Given the description of an element on the screen output the (x, y) to click on. 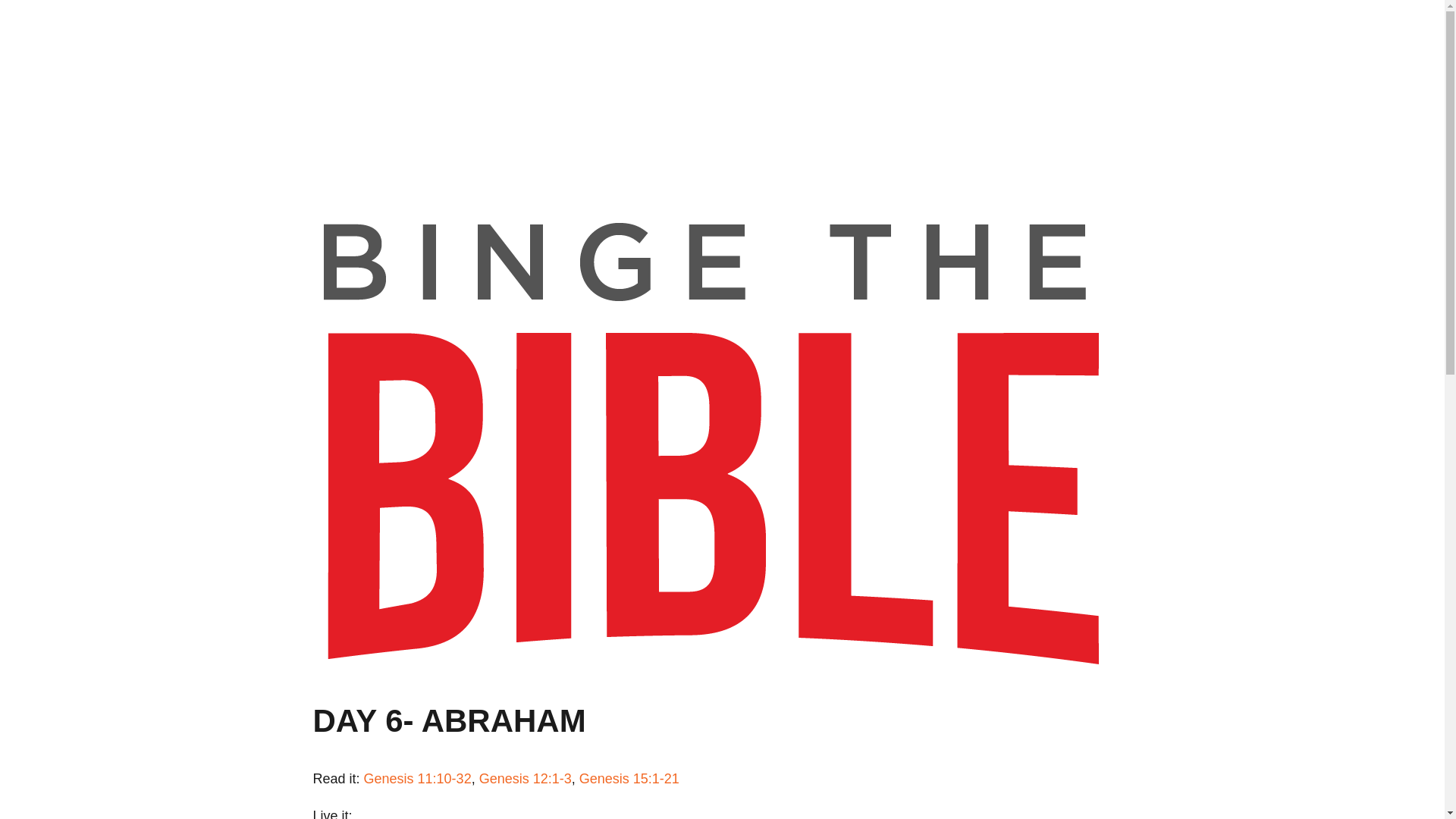
Genesis 11:10-32 (417, 778)
Genesis 12:1-3 (525, 778)
focus314church-400 (433, 73)
Genesis 15:1-21 (629, 778)
